Given the description of an element on the screen output the (x, y) to click on. 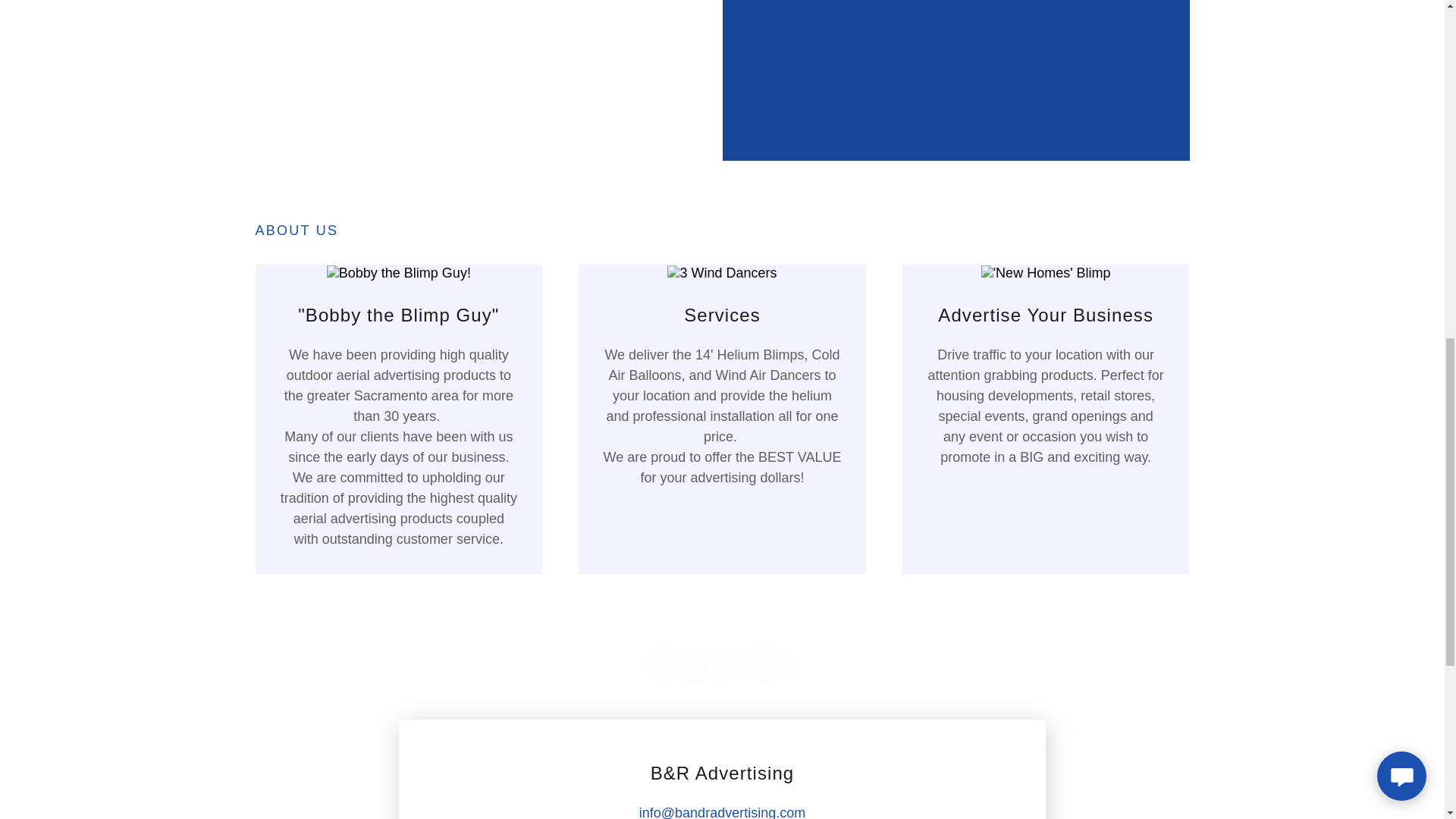
ACCEPT (1274, 324)
